Given the description of an element on the screen output the (x, y) to click on. 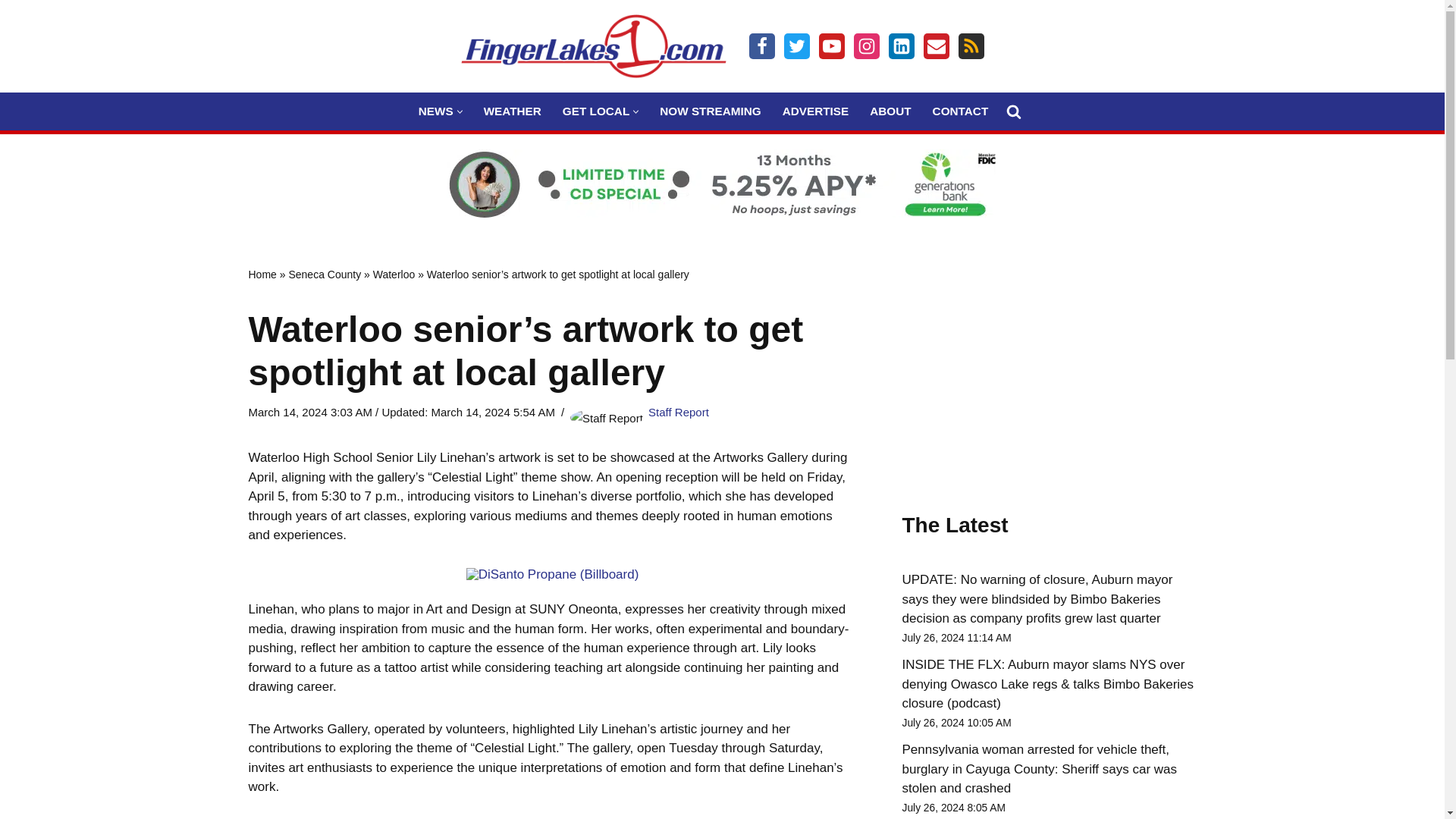
Youtube (831, 45)
GET LOCAL (595, 111)
Skip to content (11, 31)
NEWS (435, 111)
Feed (971, 45)
Twitter (796, 45)
ADVERTISE (815, 111)
CONTACT (960, 111)
Email Us (936, 45)
Facebook (761, 45)
Posts by Staff Report (678, 411)
Instagram (866, 45)
ABOUT (890, 111)
WEATHER (512, 111)
NOW STREAMING (709, 111)
